Given the description of an element on the screen output the (x, y) to click on. 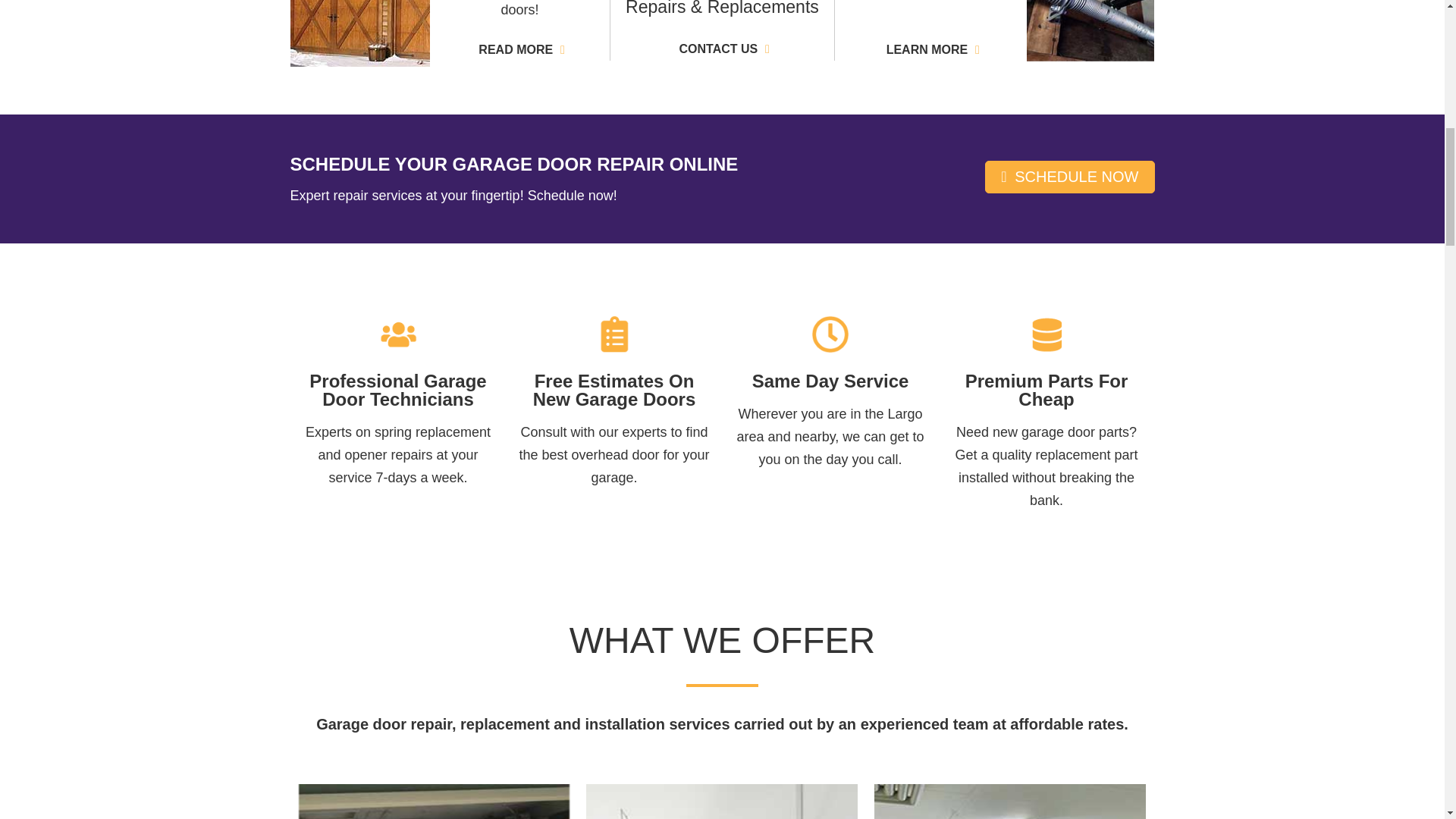
Free Estimates On New Garage Doors (614, 333)
Door Springs Near Largo, FL (1090, 30)
Same Day Service (829, 333)
READ MORE (519, 49)
LEARN MORE (930, 49)
Professional Garage Door Technicians (397, 333)
Premium Parts For Cheap (1046, 333)
CONTACT US (722, 49)
